Given the description of an element on the screen output the (x, y) to click on. 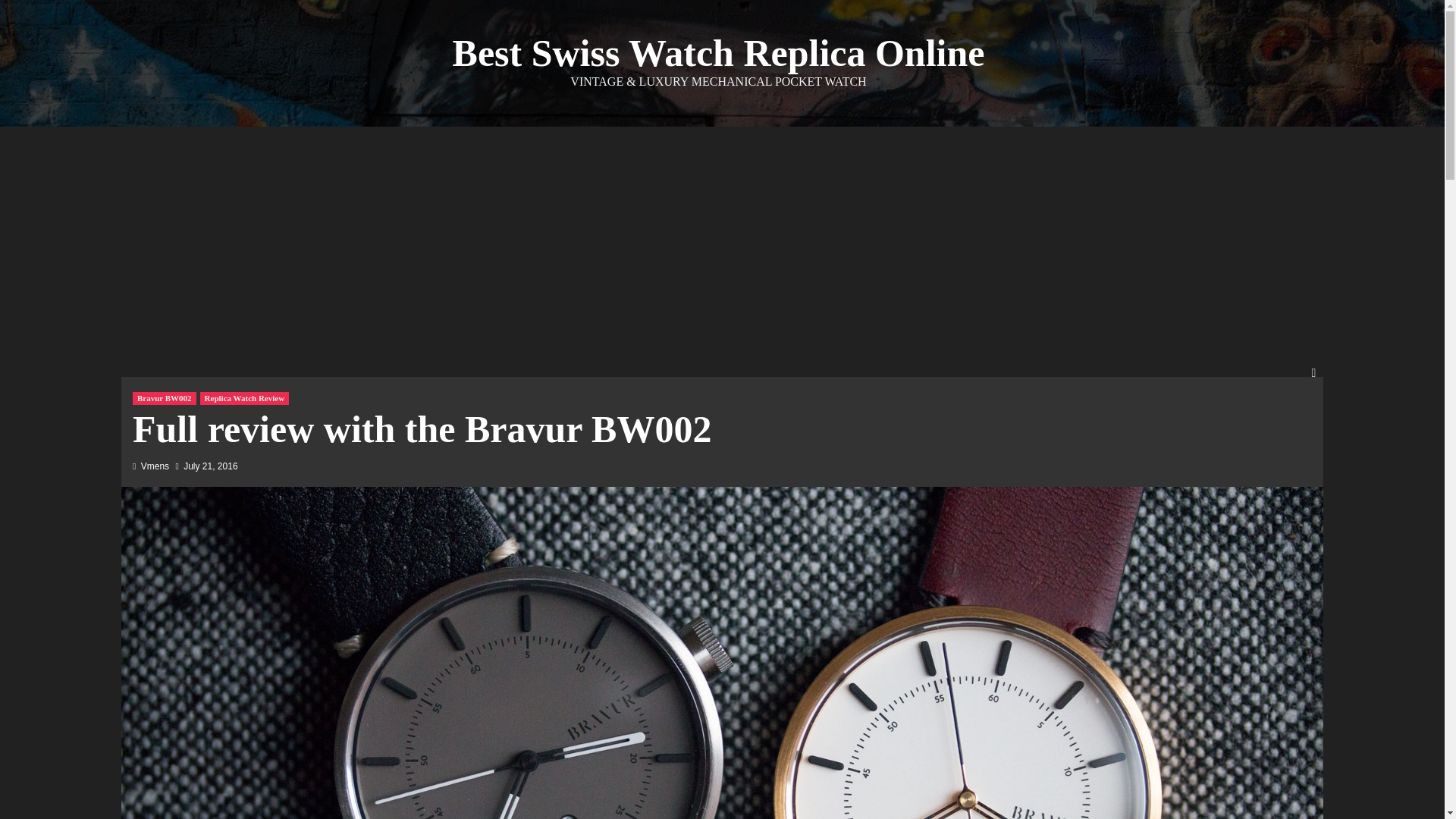
July 21, 2016 (210, 466)
Bravur BW002 (164, 398)
Replica Watch Review (244, 398)
Best Swiss Watch Replica Online (718, 52)
Vmens (154, 466)
Search (1278, 419)
